Given the description of an element on the screen output the (x, y) to click on. 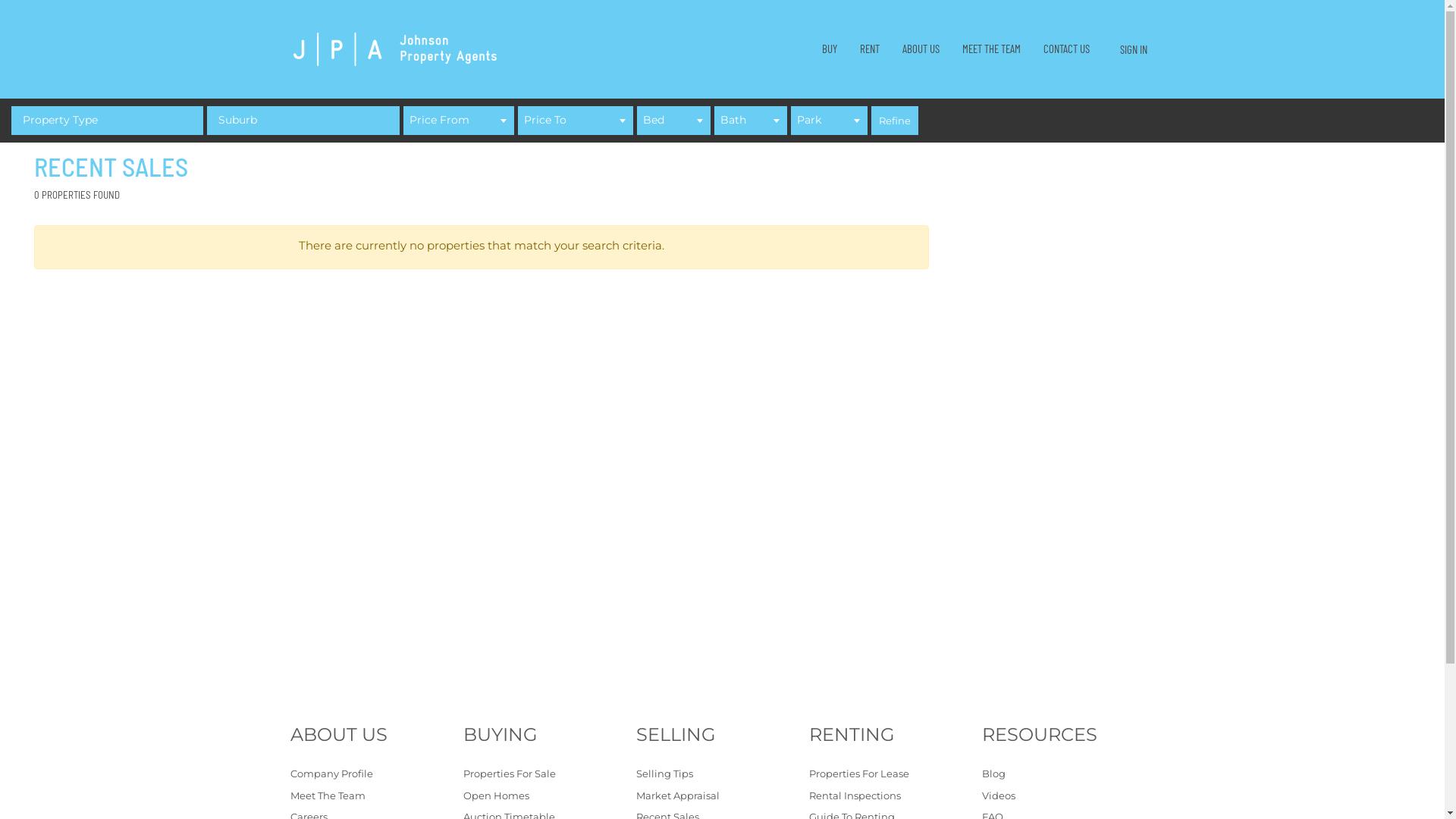
Market Appraisal Element type: text (721, 795)
Refine Element type: text (894, 120)
Properties For Lease Element type: text (894, 773)
BUYING Element type: text (548, 734)
SIGN IN Element type: text (1132, 49)
Open Homes Element type: text (548, 795)
RENT Element type: text (868, 48)
MEET THE TEAM Element type: text (991, 48)
ABOUT US Element type: text (920, 48)
BUY Element type: text (828, 48)
ABOUT US Element type: text (375, 734)
Blog Element type: text (1067, 773)
Selling Tips Element type: text (721, 773)
SELLING Element type: text (721, 734)
Meet The Team Element type: text (375, 795)
RESOURCES Element type: text (1067, 734)
Company Profile Element type: text (375, 773)
Rental Inspections Element type: text (894, 795)
Videos Element type: text (1067, 795)
CONTACT US Element type: text (1065, 48)
Properties For Sale Element type: text (548, 773)
RENTING Element type: text (894, 734)
